Given the description of an element on the screen output the (x, y) to click on. 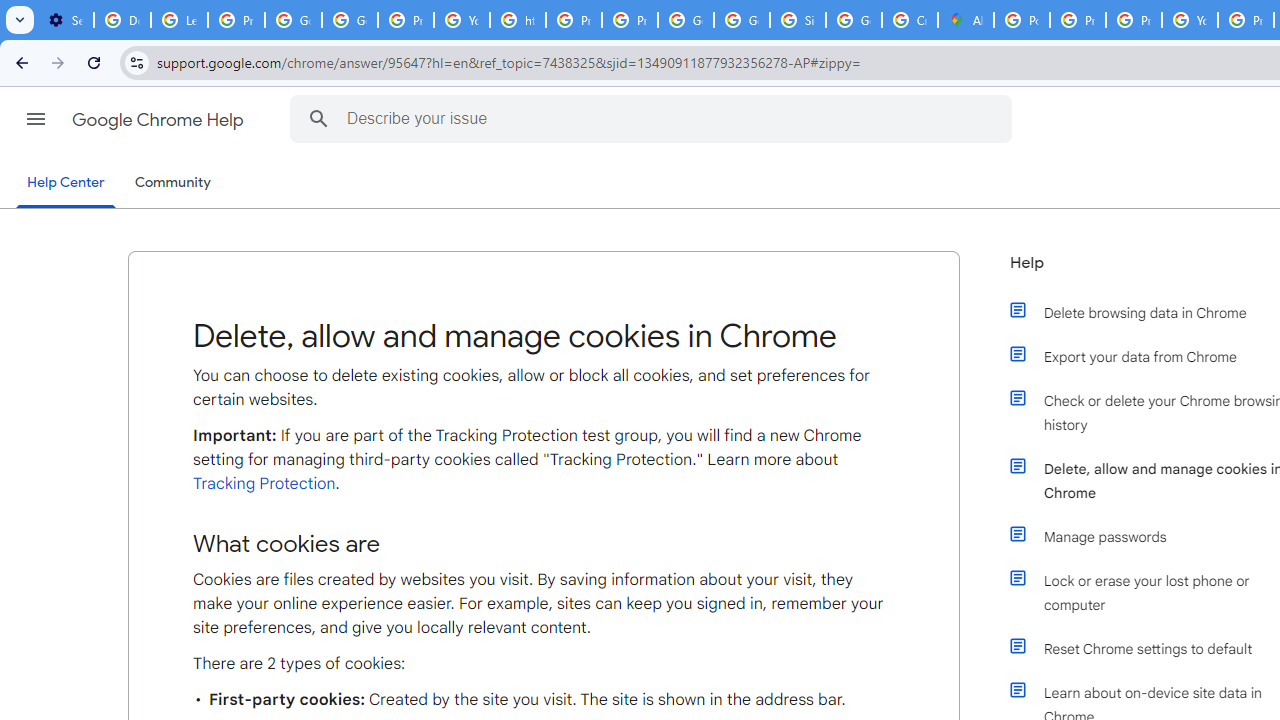
Privacy Help Center - Policies Help (1077, 20)
Tracking Protection (264, 483)
Learn how to find your photos - Google Photos Help (179, 20)
